Given the description of an element on the screen output the (x, y) to click on. 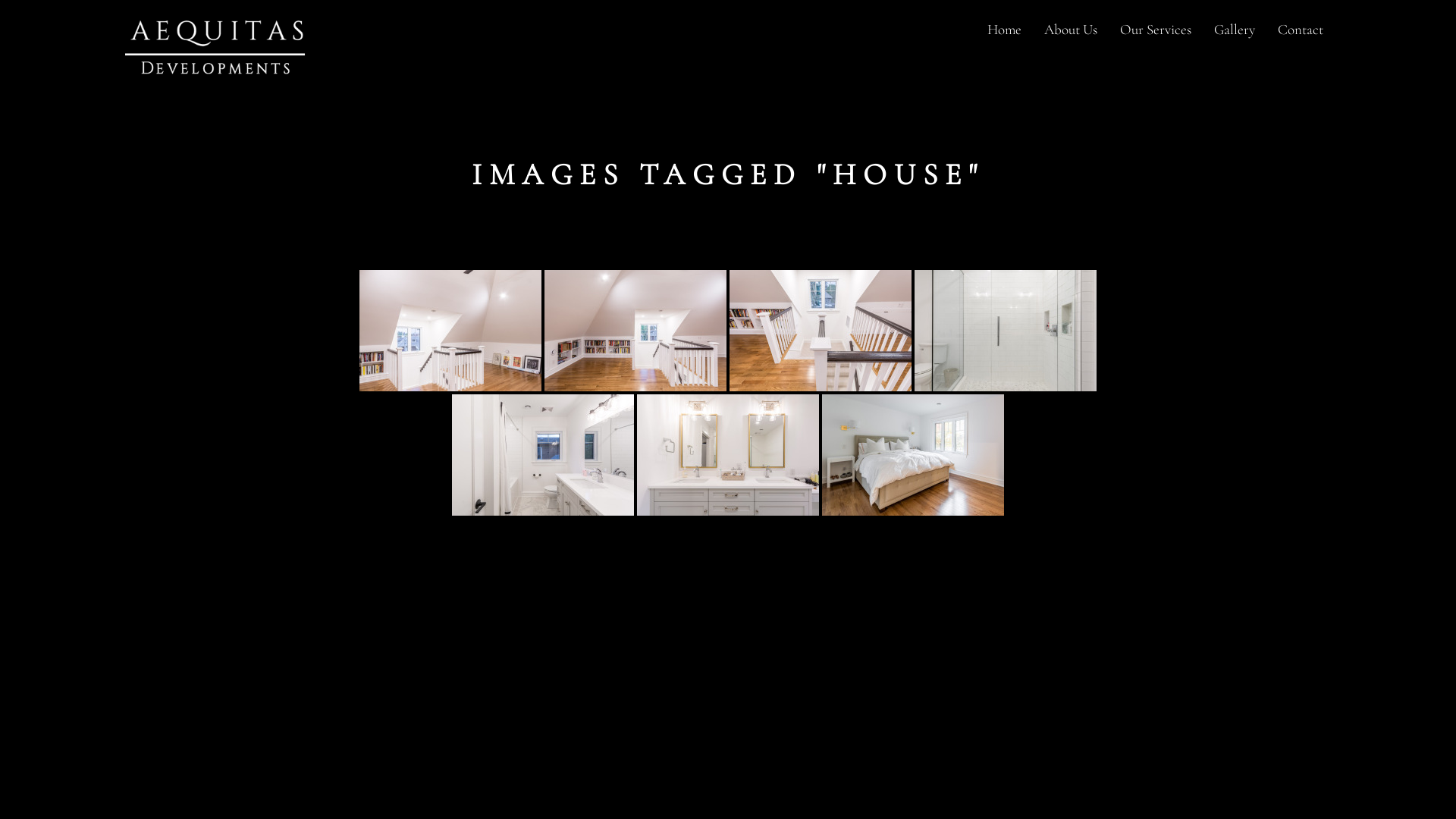
Home Element type: text (1003, 29)
Glebe Element type: hover (728, 454)
Glebe Element type: hover (913, 454)
Glebe Element type: hover (820, 330)
Gallery Element type: text (1234, 29)
Glebe Element type: hover (1005, 330)
Our Services Element type: text (1155, 29)
Glebe Element type: hover (635, 330)
Glebe Element type: hover (450, 330)
About Us Element type: text (1070, 29)
Contact Element type: text (1300, 29)
Glebe Element type: hover (542, 454)
